Given the description of an element on the screen output the (x, y) to click on. 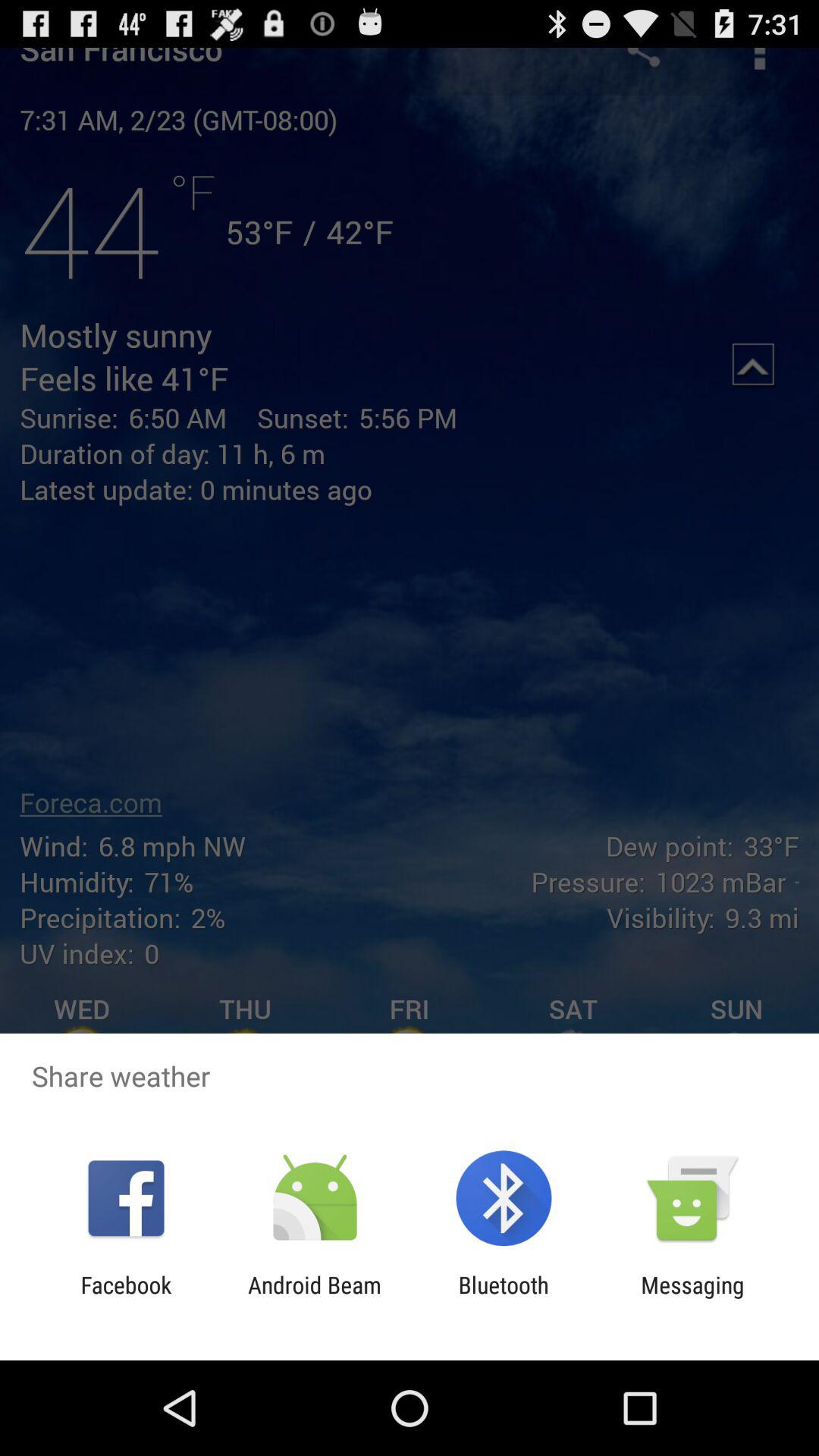
turn on icon to the right of facebook icon (314, 1298)
